Given the description of an element on the screen output the (x, y) to click on. 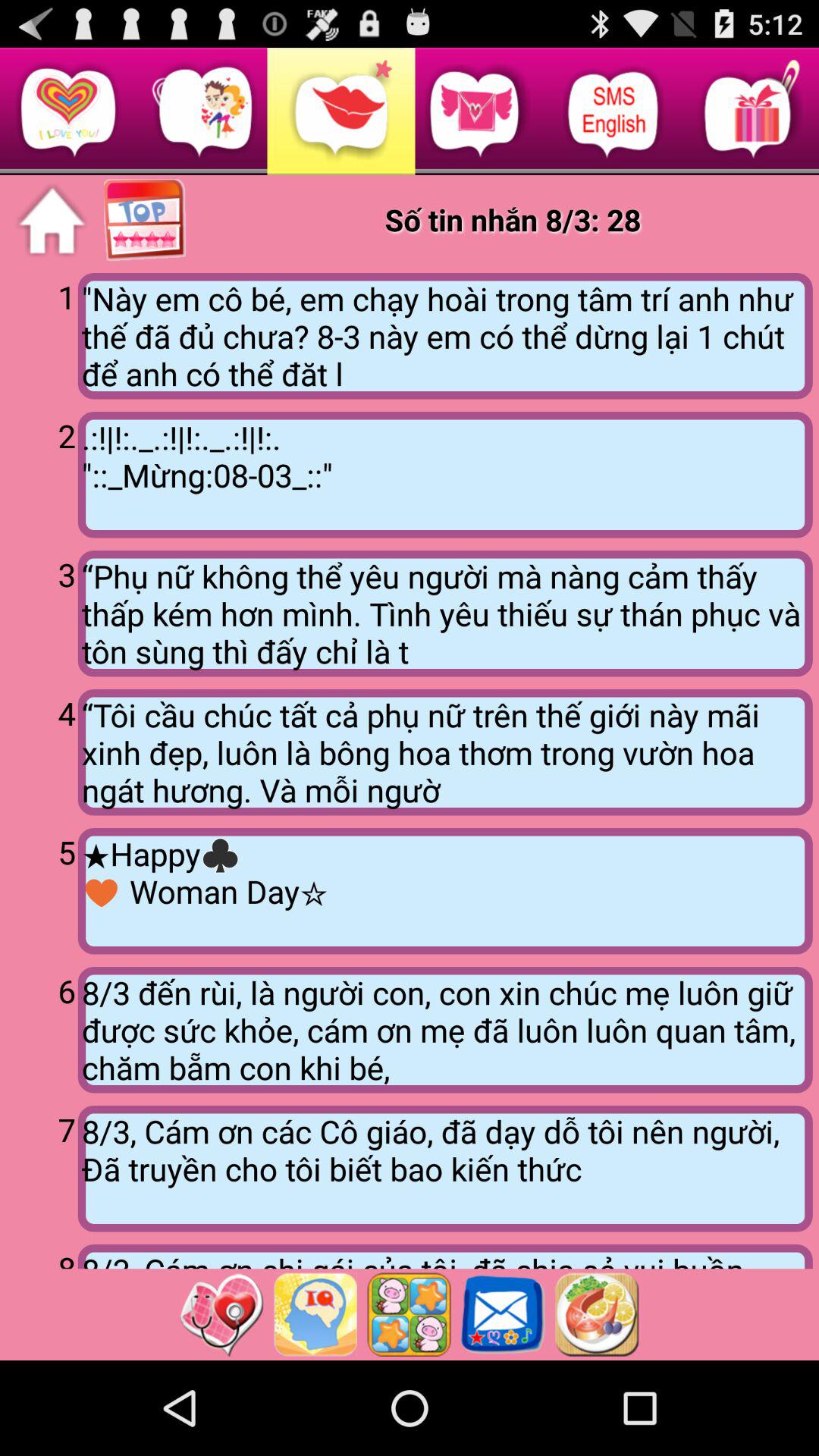
show top options (145, 220)
